Given the description of an element on the screen output the (x, y) to click on. 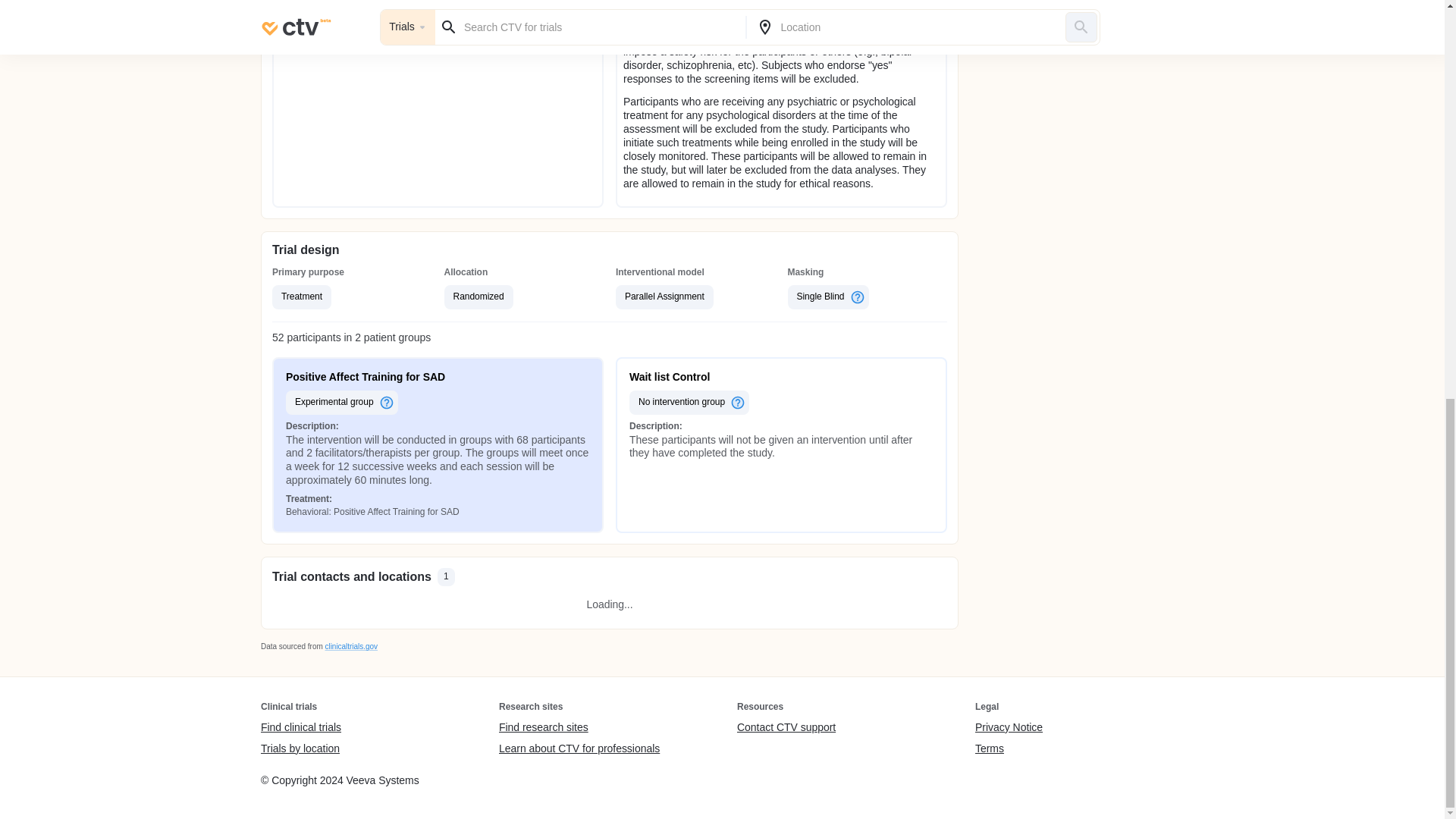
Learn about CTV for professionals (579, 748)
Find clinical trials (300, 727)
Contact CTV support (785, 727)
Terms (1008, 748)
Trials by location (300, 748)
Find research sites (579, 727)
clinicaltrials.gov (350, 646)
Privacy Notice (1008, 727)
